Given the description of an element on the screen output the (x, y) to click on. 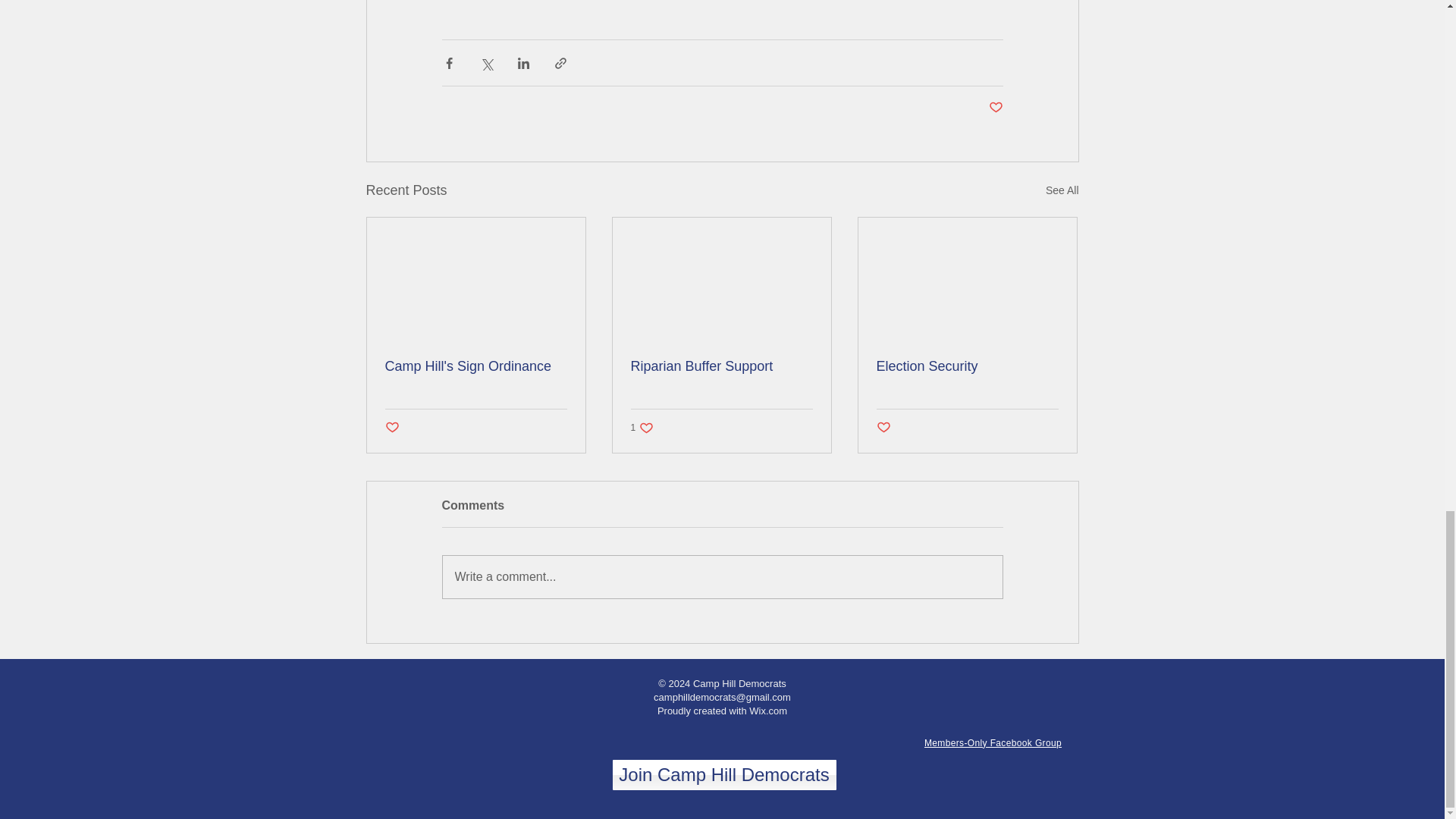
Post not marked as liked (641, 427)
Riparian Buffer Support (883, 426)
Join Camp Hill Democrats (721, 366)
Members-Only Facebook Group (723, 775)
Post not marked as liked (992, 742)
 Wix.com (995, 107)
Camp Hill's Sign Ordinance (766, 710)
Write a comment... (476, 366)
Election Security (722, 577)
Post not marked as liked (967, 366)
See All (391, 426)
